Given the description of an element on the screen output the (x, y) to click on. 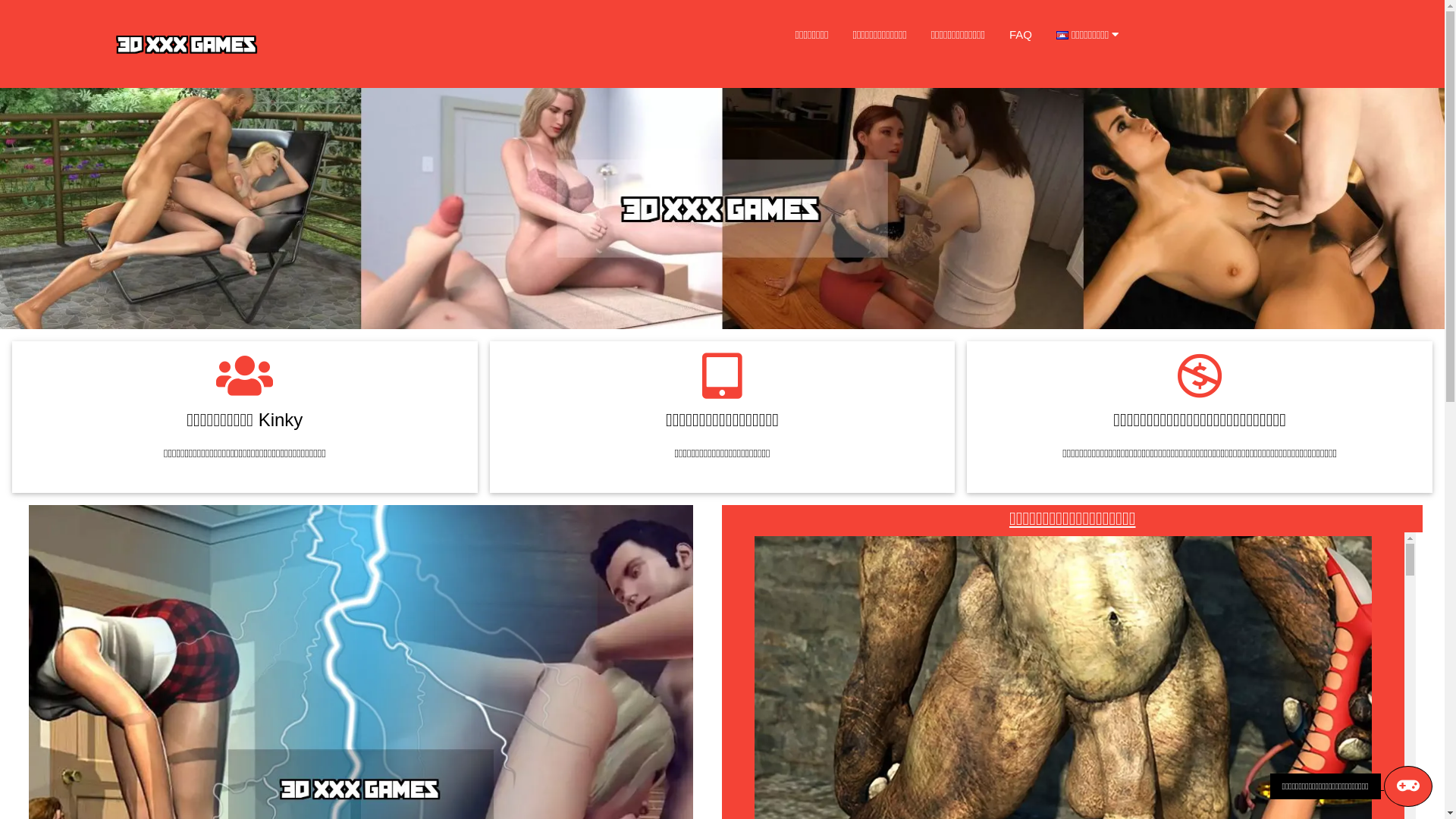
FAQ Element type: text (1020, 35)
